Given the description of an element on the screen output the (x, y) to click on. 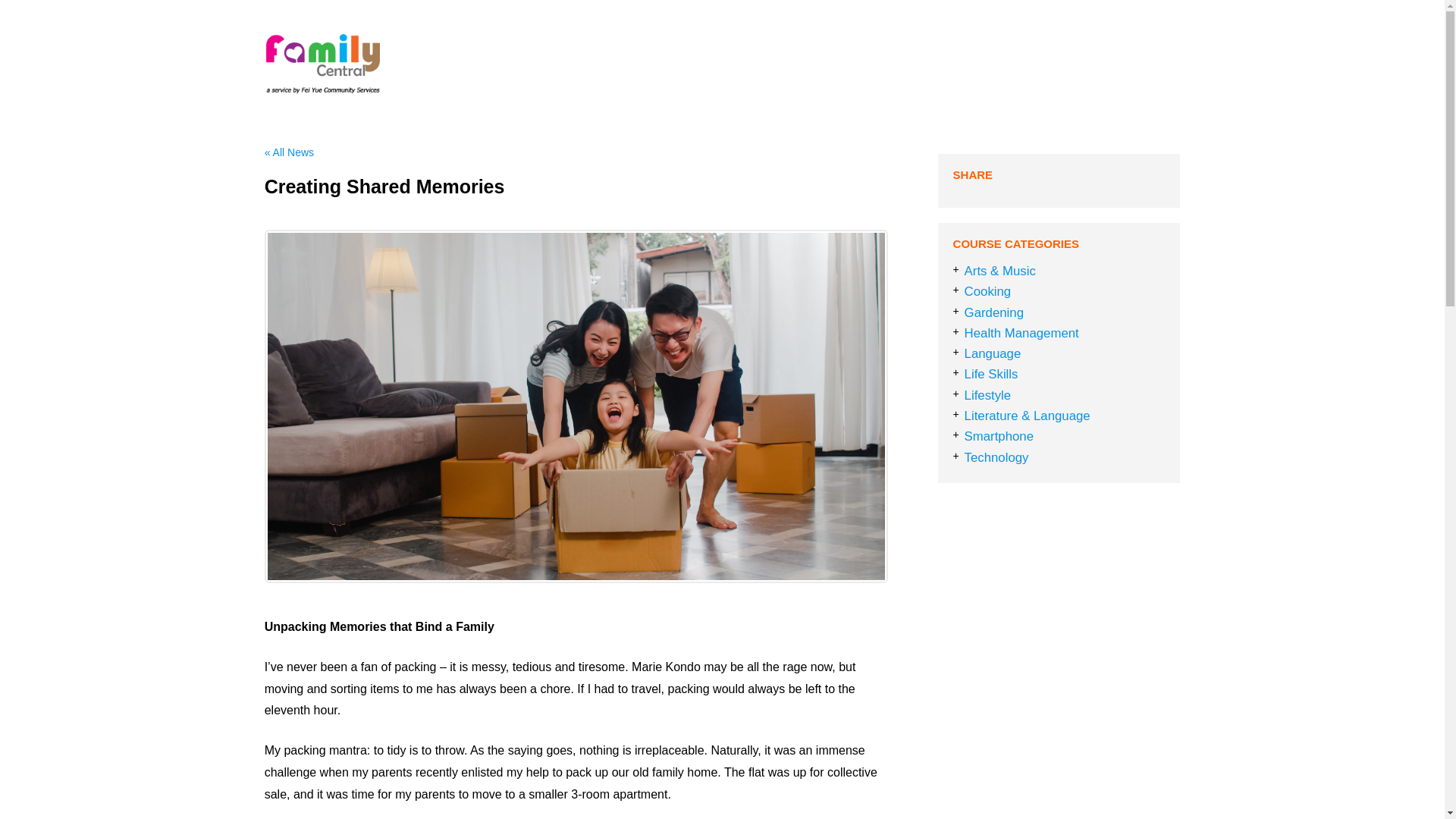
Registration Page for NSA and ILP Courses (1039, 93)
Language (992, 353)
About (649, 63)
Resources (955, 63)
Smartphone (998, 436)
Life Skills (990, 373)
The Arts Market (1055, 63)
Gardening (993, 312)
Contact (1147, 63)
Courses for Seniors (834, 63)
Health Management (1020, 332)
Lifestyle (987, 395)
Family (716, 63)
Technology (996, 457)
Family Central (402, 109)
